Given the description of an element on the screen output the (x, y) to click on. 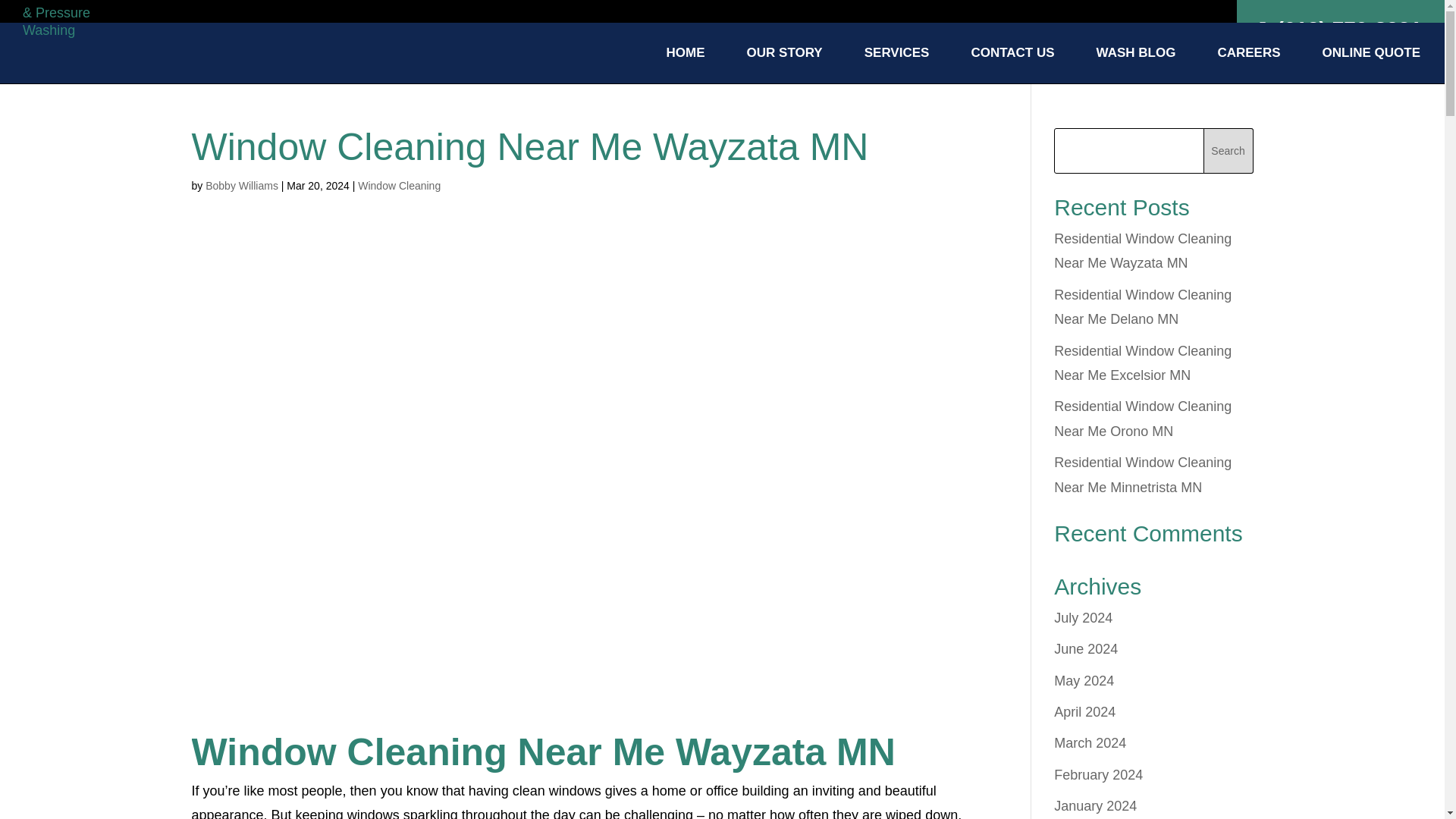
Window Cleaning (399, 185)
Residential Window Cleaning Near Me Orono MN (1142, 418)
CONTACT US (1012, 65)
May 2024 (1083, 680)
Search (1228, 150)
Search (1228, 150)
July 2024 (1083, 617)
Residential Window Cleaning Near Me Delano MN (1142, 306)
Residential Window Cleaning Near Me Excelsior MN (1142, 363)
OUR STORY (784, 65)
ONLINE QUOTE (1371, 65)
March 2024 (1089, 743)
Residential Window Cleaning Near Me Minnetrista MN (1142, 474)
WASH BLOG (1136, 65)
HOME (685, 65)
